Given the description of an element on the screen output the (x, y) to click on. 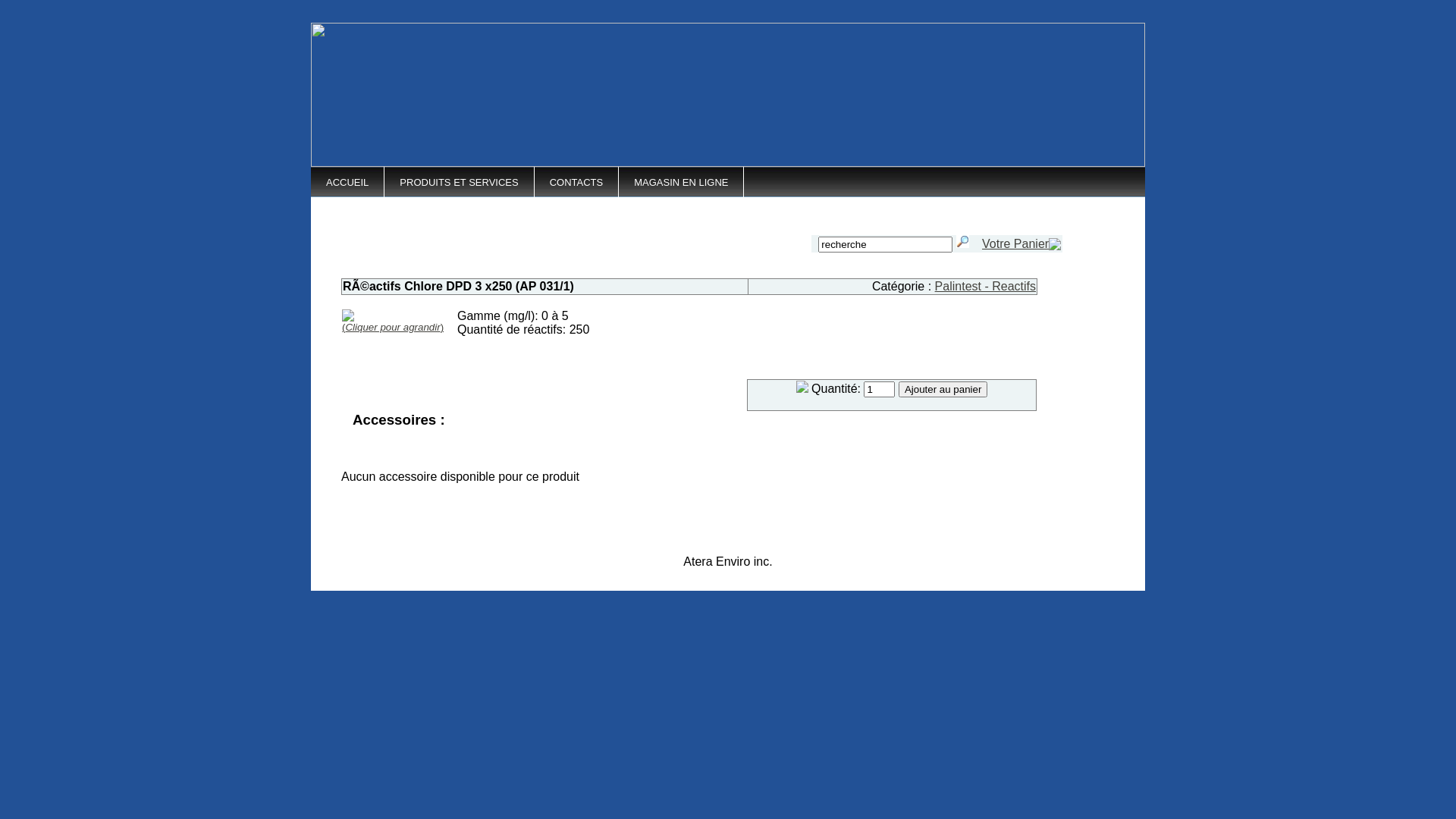
(Cliquer pour agrandir) Element type: text (392, 321)
Palintest - Reactifs Element type: text (985, 285)
ACCUEIL Element type: text (346, 186)
Ajouter au panier Element type: text (943, 389)
MAGASIN EN LIGNE Element type: text (680, 186)
CONTACTS Element type: text (576, 186)
Votre Panier Element type: text (1015, 243)
recherche Element type: text (885, 244)
PRODUITS ET SERVICES Element type: text (458, 186)
